Given the description of an element on the screen output the (x, y) to click on. 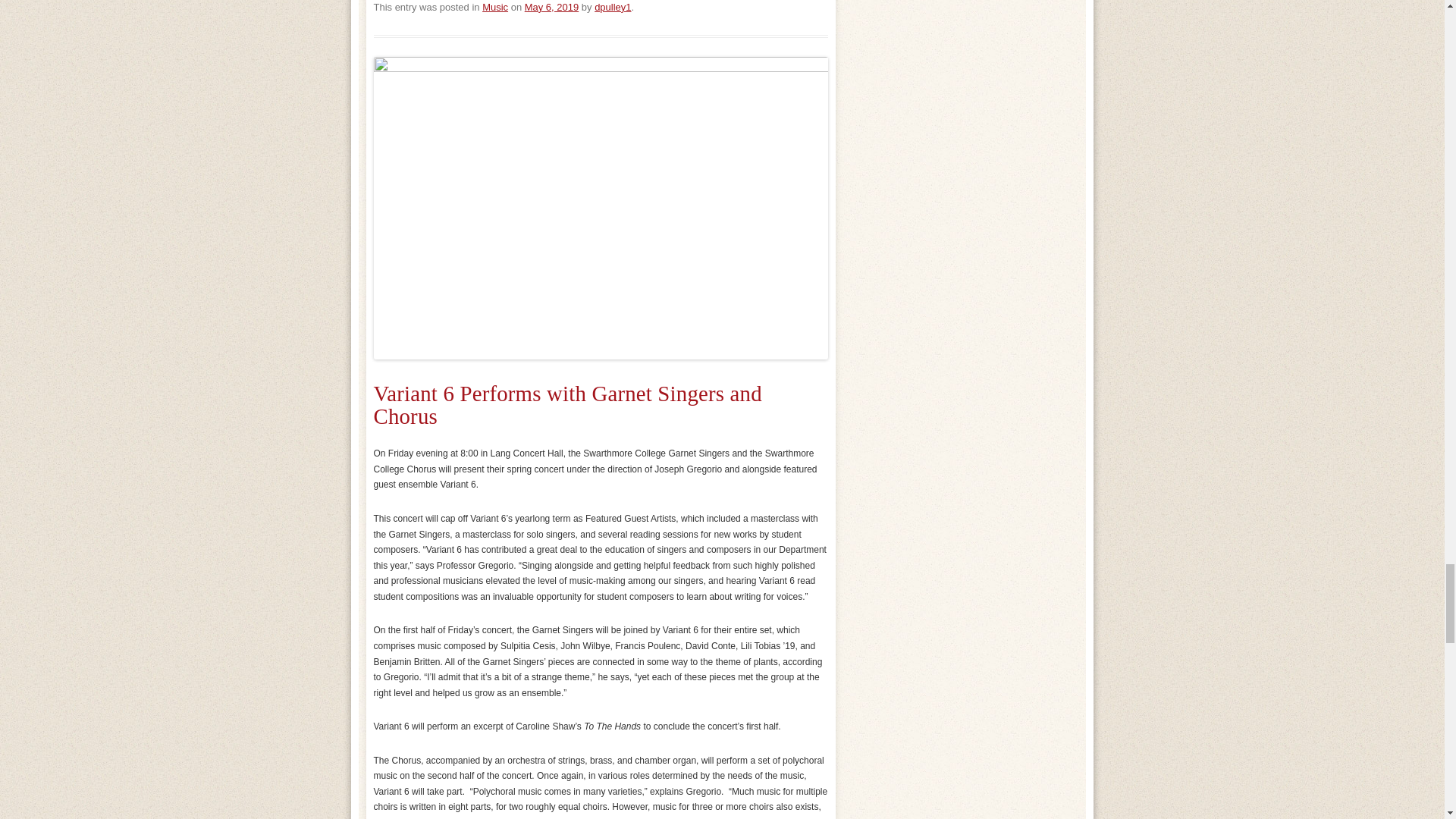
11:53 am (551, 7)
Variant 6 Performs with Garnet Singers and Chorus (566, 404)
Music (494, 7)
View all posts by dpulley1 (612, 7)
May 6, 2019 (551, 7)
dpulley1 (612, 7)
